Given the description of an element on the screen output the (x, y) to click on. 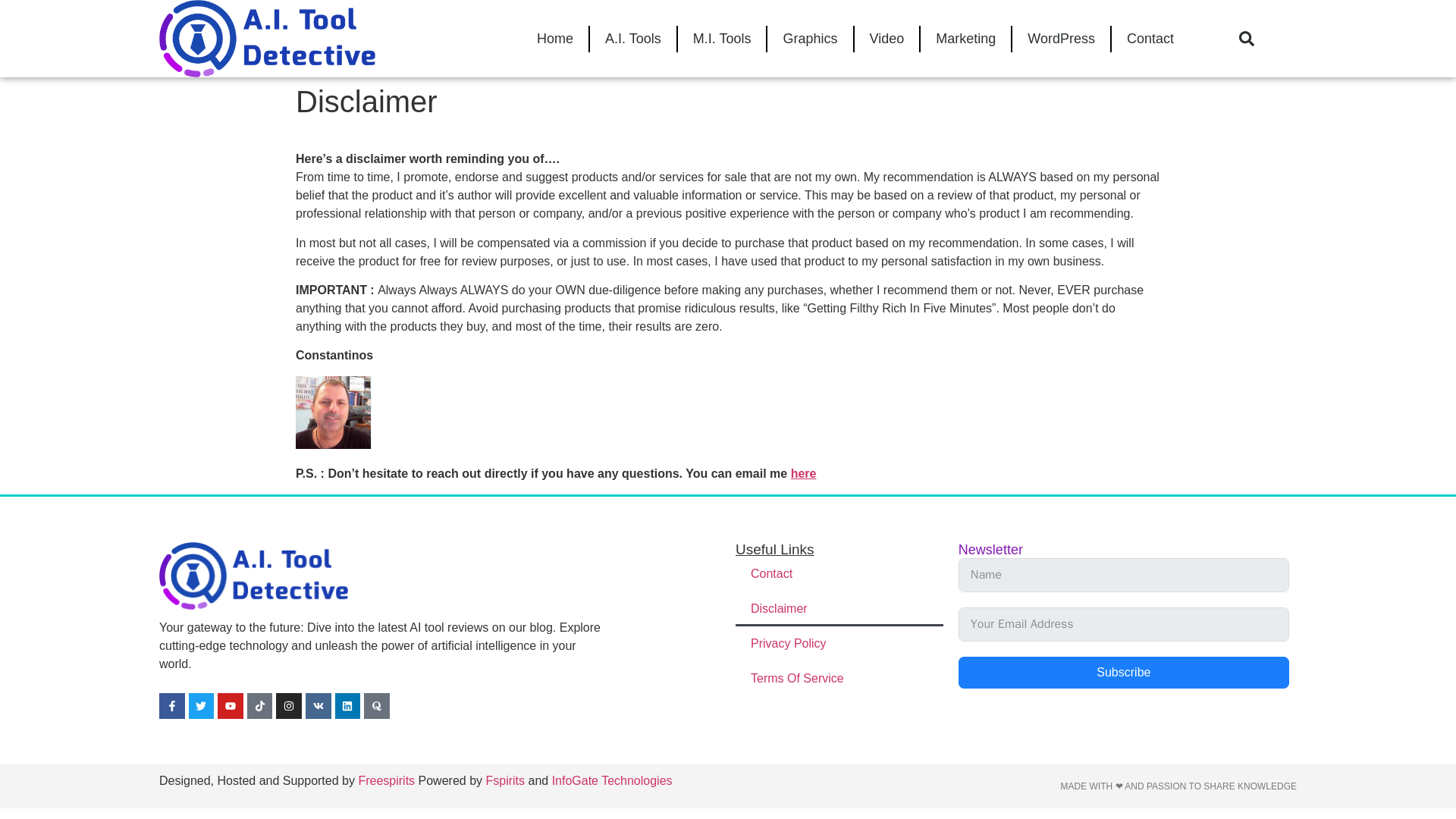
Subscribe (1123, 672)
here (803, 472)
Freespirits (386, 780)
Terms Of Service (839, 678)
Contact (839, 573)
M.I. Tools (722, 38)
WordPress (1060, 38)
Disclaimer (839, 608)
Contact (1150, 38)
Disclaimer 1 (333, 411)
